Given the description of an element on the screen output the (x, y) to click on. 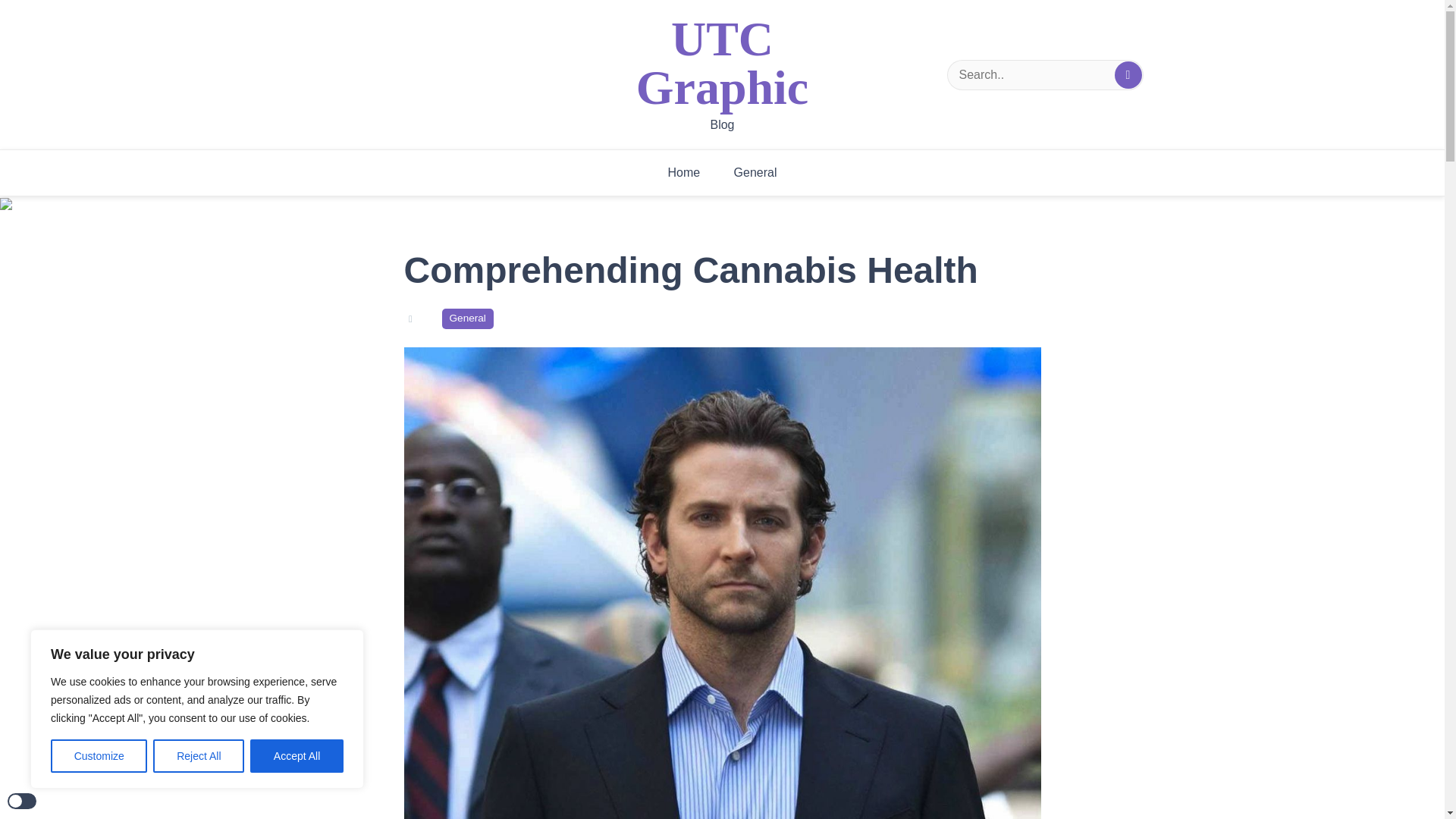
Customize (98, 756)
Home (683, 173)
Accept All (296, 756)
General (755, 173)
Reject All (198, 756)
UTC Graphic (722, 63)
General (467, 318)
